Given the description of an element on the screen output the (x, y) to click on. 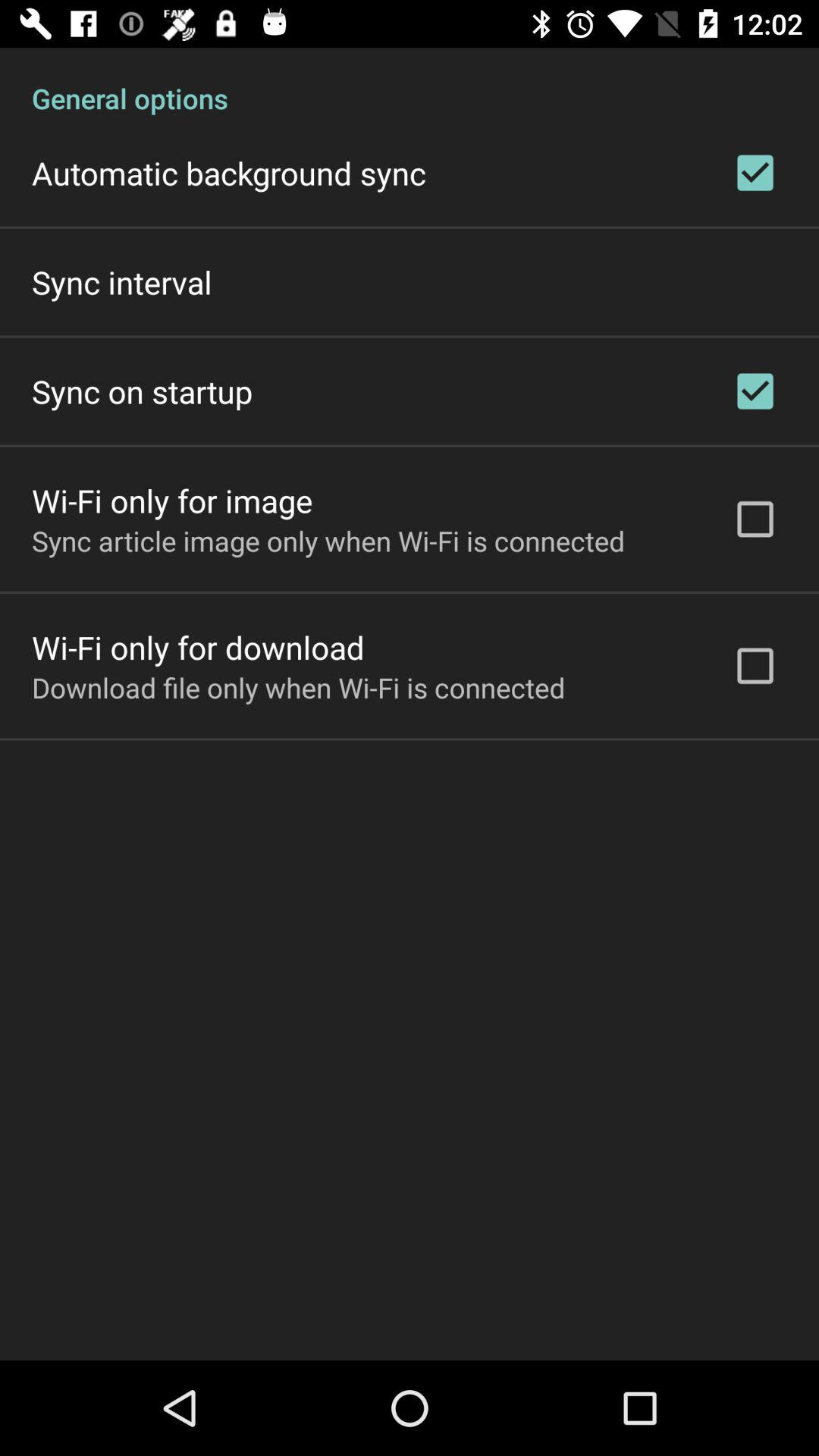
choose item above sync interval (228, 172)
